Given the description of an element on the screen output the (x, y) to click on. 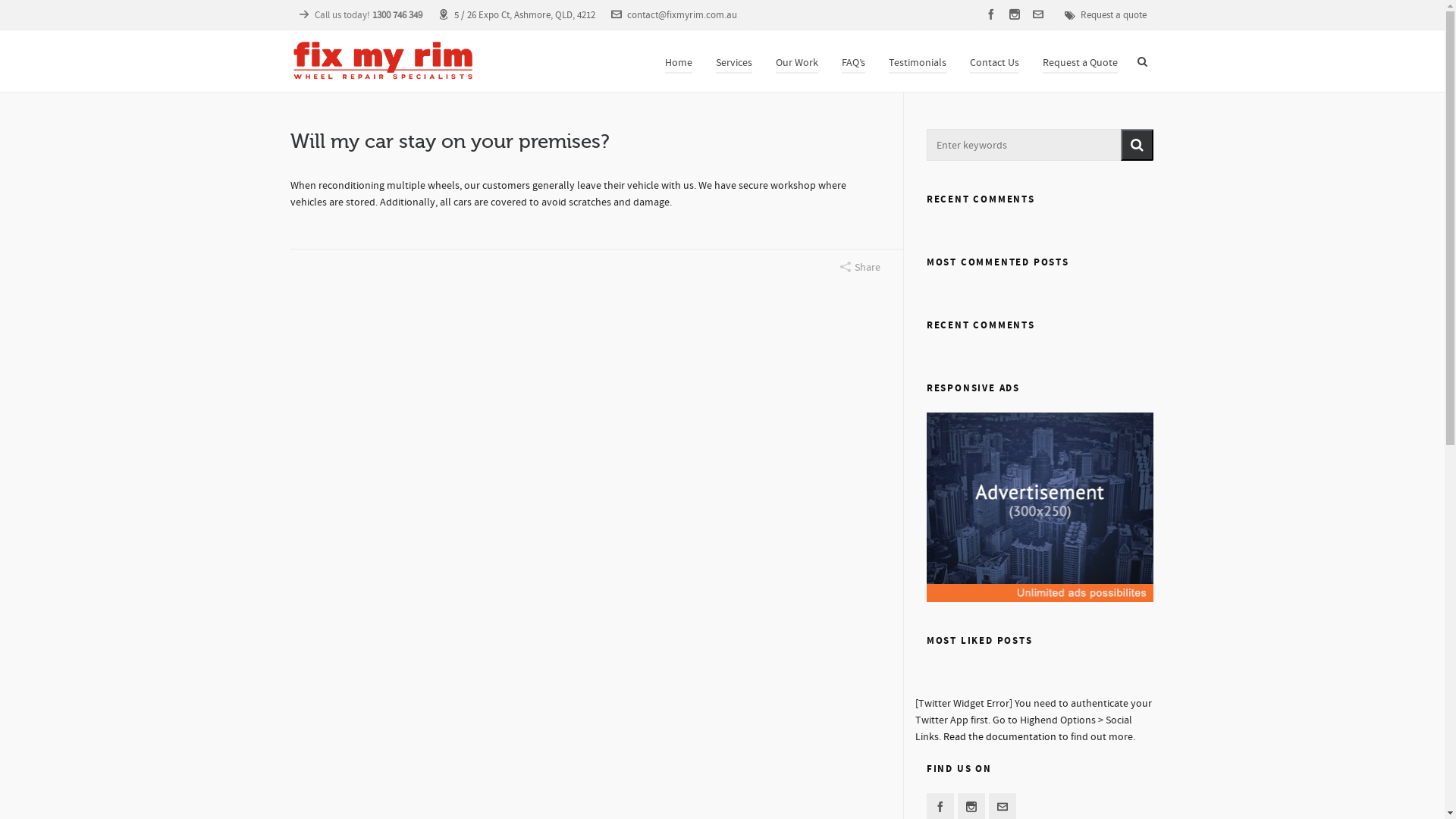
contact@fixmyrim.com.au Element type: text (674, 15)
Request a quote Element type: text (1105, 15)
https://fixmyrim.com.au Element type: text (591, 702)
Our Work Element type: text (796, 60)
5 / 26 Expo Ct, Ashmore, QLD, 4212 Element type: text (516, 15)
Request a Quote Element type: text (1080, 60)
Testimonials Element type: text (916, 60)
Services Element type: text (732, 60)
Home Element type: text (678, 60)
Contact Us Element type: text (994, 60)
07 5528 4872 Element type: text (565, 659)
contact@fixmyrim.com.au Element type: text (595, 680)
Read the documentation Element type: text (999, 736)
